Given the description of an element on the screen output the (x, y) to click on. 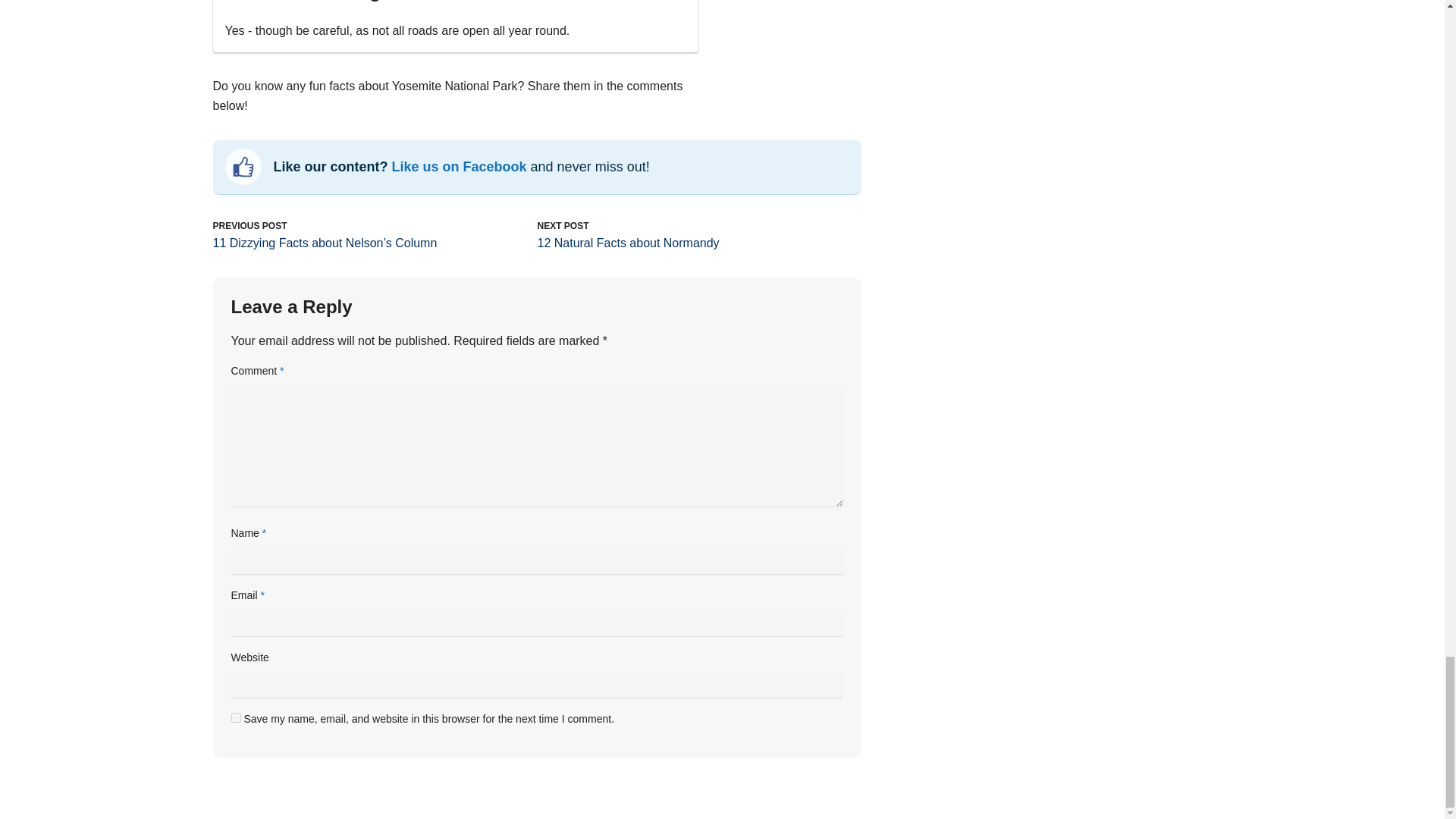
12 Natural Facts about Normandy (628, 242)
yes (235, 717)
Like us on Facebook (459, 166)
